Given the description of an element on the screen output the (x, y) to click on. 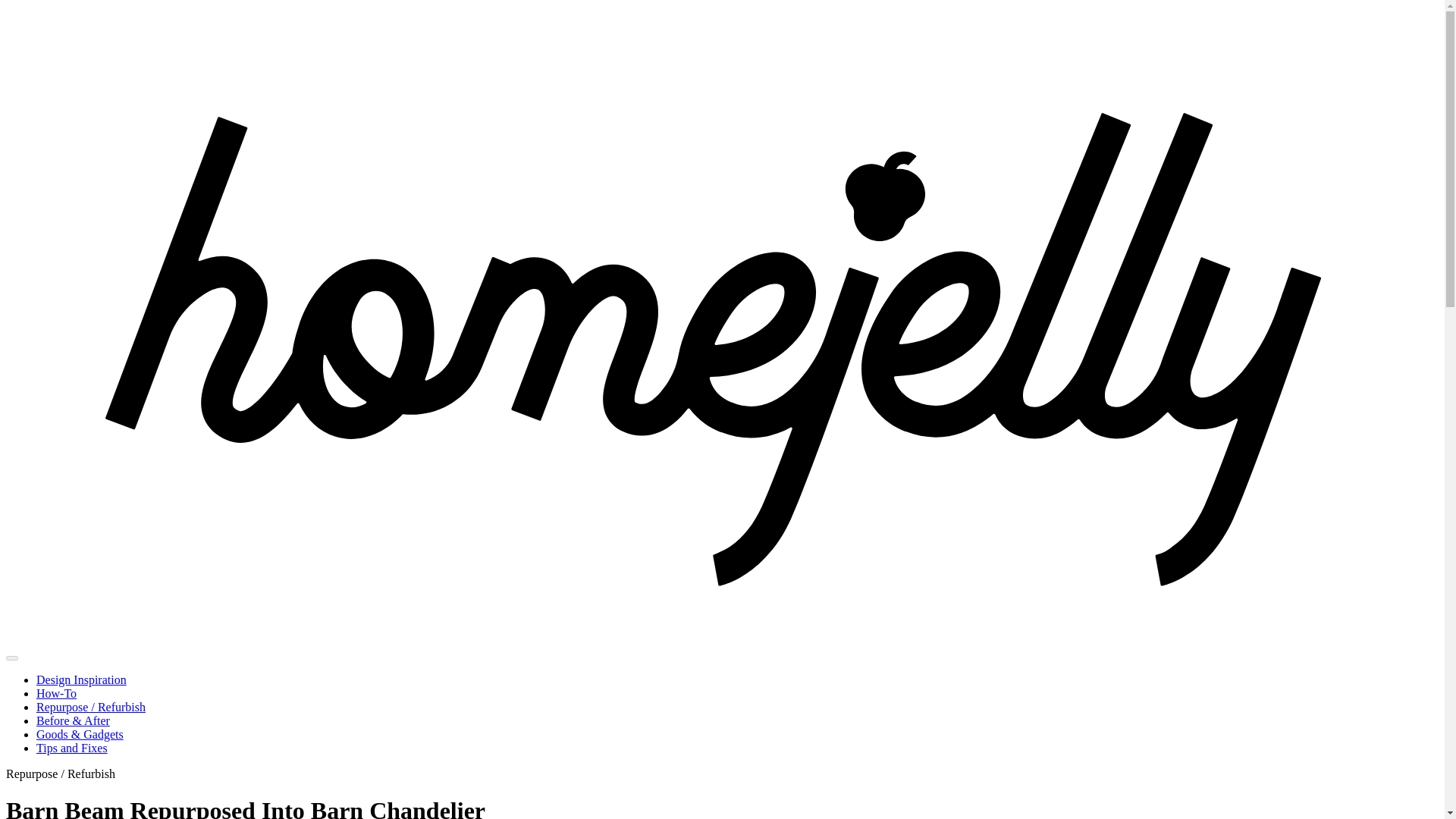
Tips and Fixes (71, 748)
Design Inspiration (81, 679)
How-To (56, 693)
How-To (56, 693)
Design Inspiration (81, 679)
Tips and Fixes (71, 748)
